Given the description of an element on the screen output the (x, y) to click on. 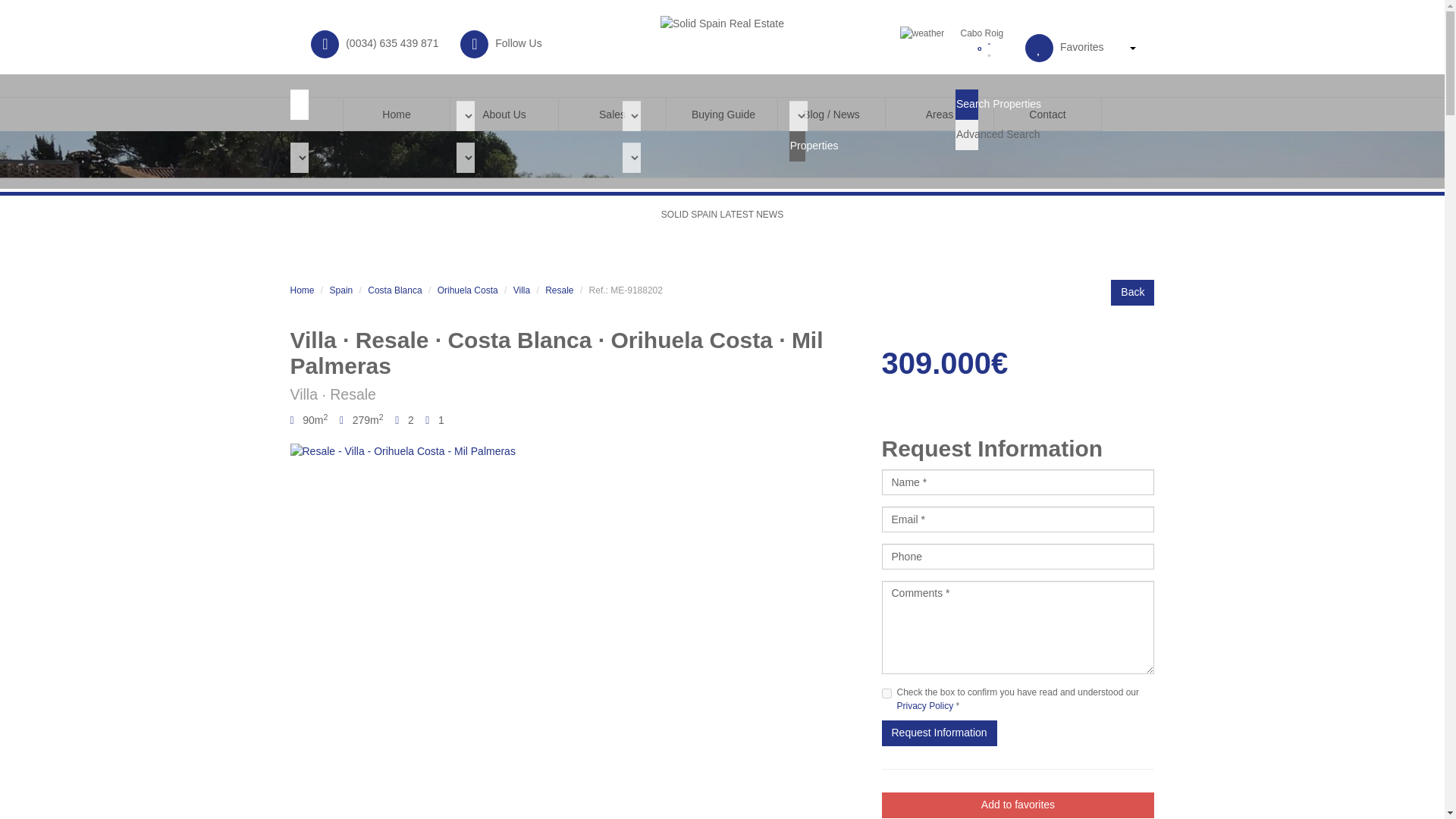
Home (396, 114)
Follow Us (518, 42)
Search Properties (966, 104)
Sales (612, 114)
Back (1132, 292)
Orihuela Costa (467, 290)
Costa Blanca (395, 290)
About Us (504, 114)
Request Information (937, 733)
Resale (558, 290)
Buying Guide (723, 114)
Favorites (1081, 46)
Home (301, 290)
Spain (341, 290)
